Given the description of an element on the screen output the (x, y) to click on. 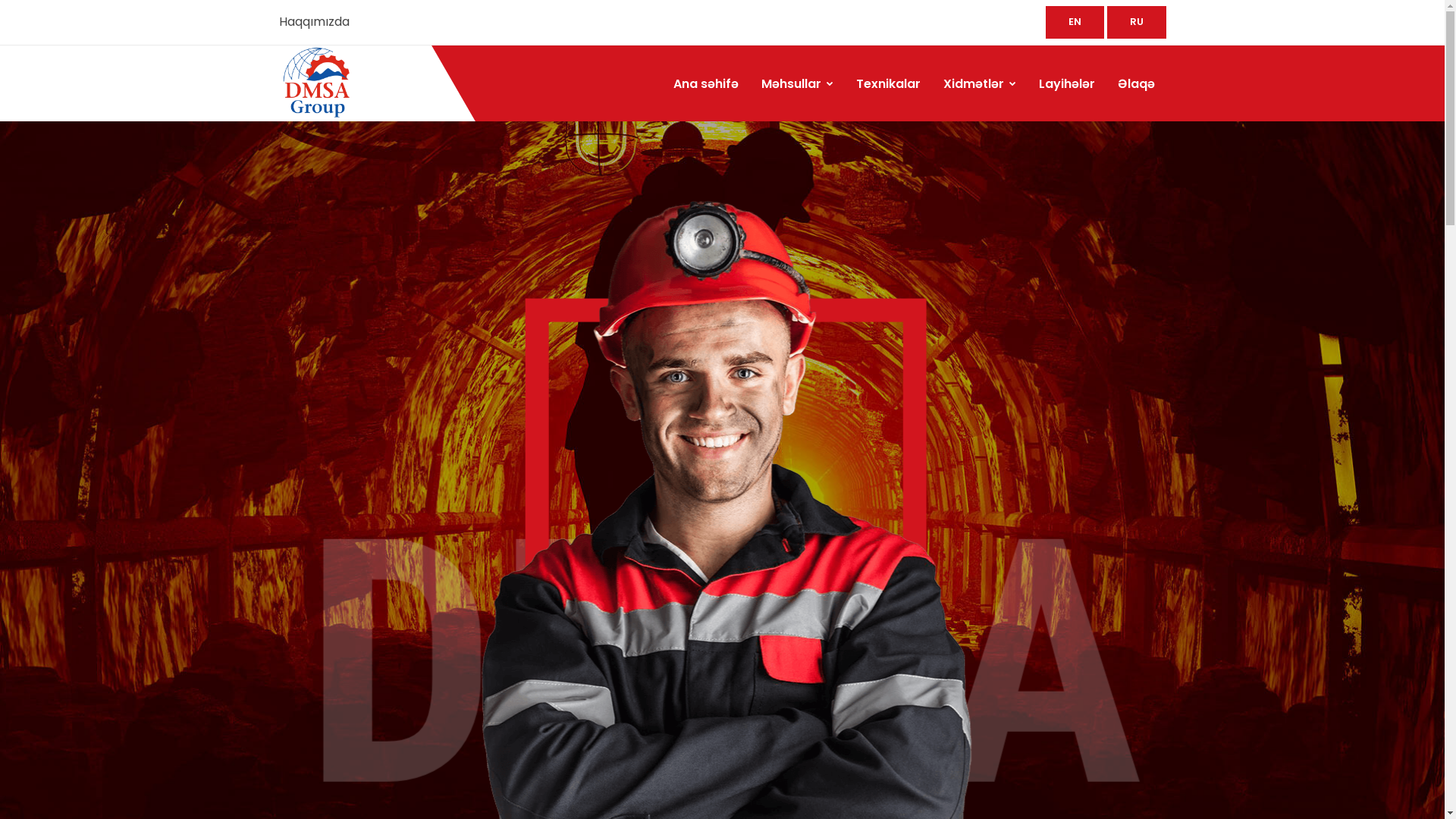
EN Element type: text (1073, 22)
RU Element type: text (1136, 22)
Texnikalar Element type: text (887, 83)
